Given the description of an element on the screen output the (x, y) to click on. 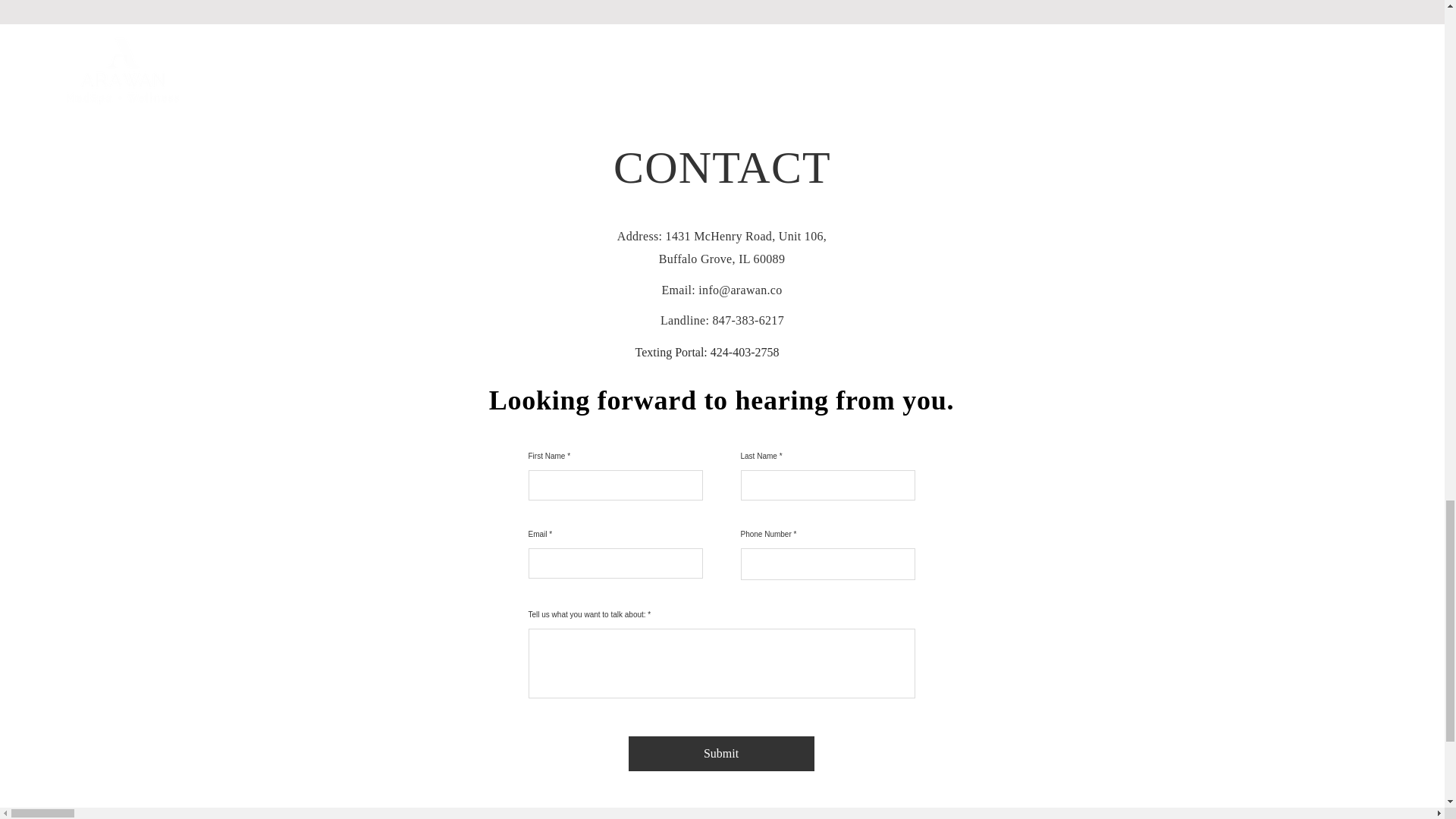
Landline: 847-383-6217 (722, 319)
Texting Portal: 424-403-2758 (706, 351)
Submit (720, 753)
Buffalo Grove, IL 60089 (721, 258)
Address: 1431 McHenry Road, Unit 106, (722, 236)
